Given the description of an element on the screen output the (x, y) to click on. 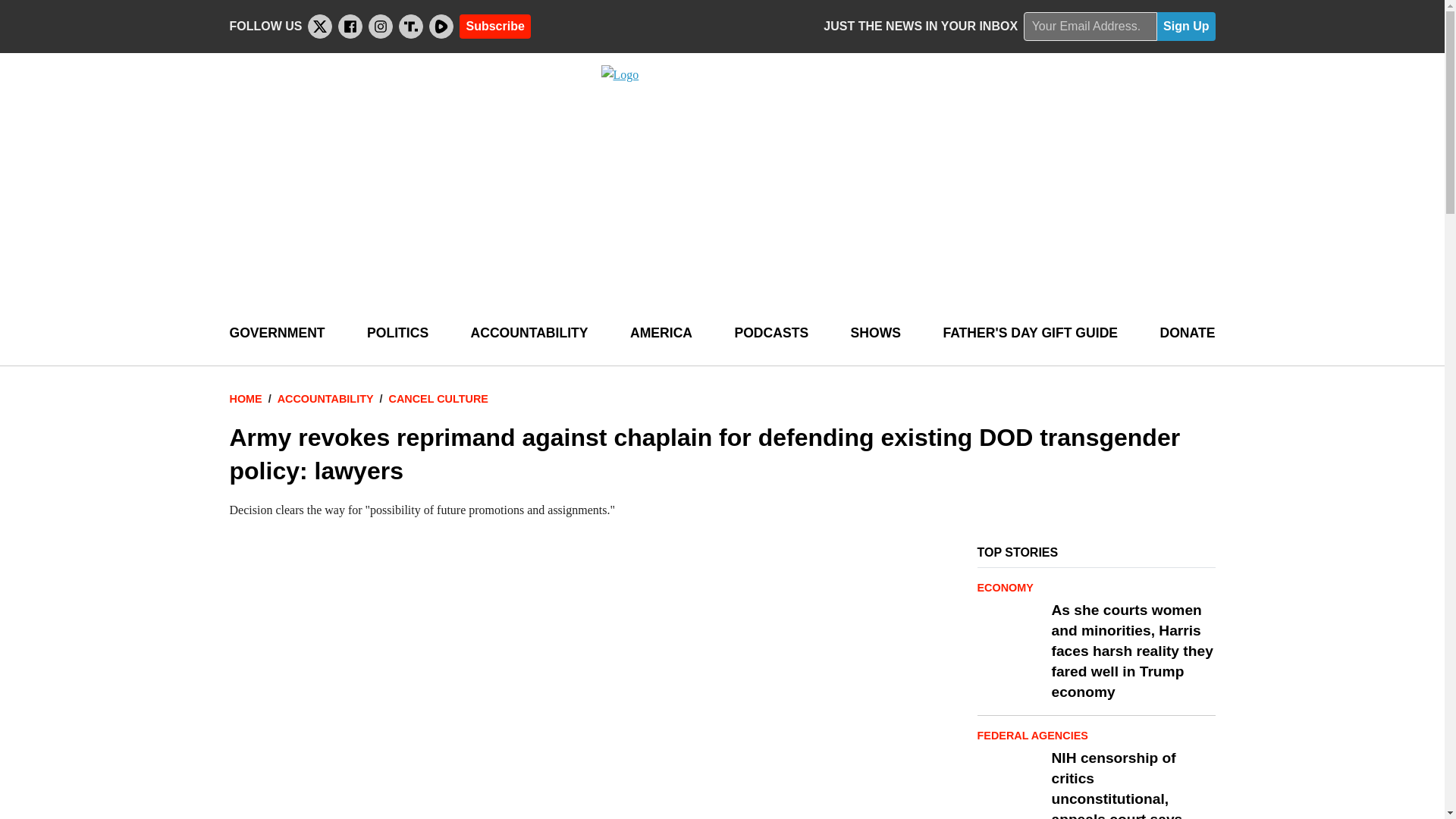
Subscribe (494, 26)
Sign Up (1185, 26)
PODCASTS (770, 333)
GOVERNMENT (276, 333)
FATHER'S DAY GIFT GUIDE (1030, 333)
AMERICA (661, 333)
DONATE (1186, 333)
SHOWS (875, 333)
ACCOUNTABILITY (529, 333)
